Given the description of an element on the screen output the (x, y) to click on. 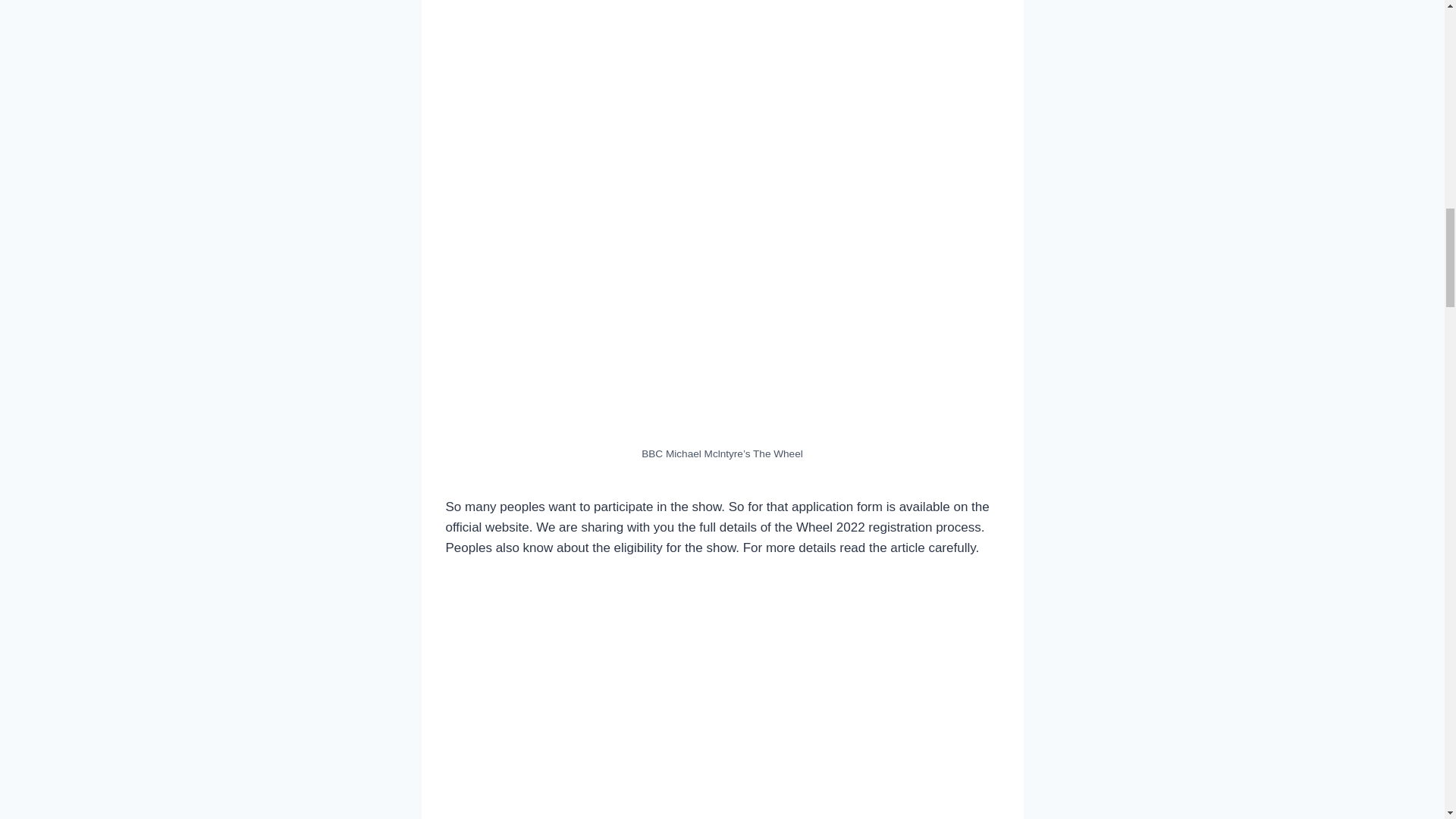
Advertisement (721, 688)
Advertisement (721, 326)
